Given the description of an element on the screen output the (x, y) to click on. 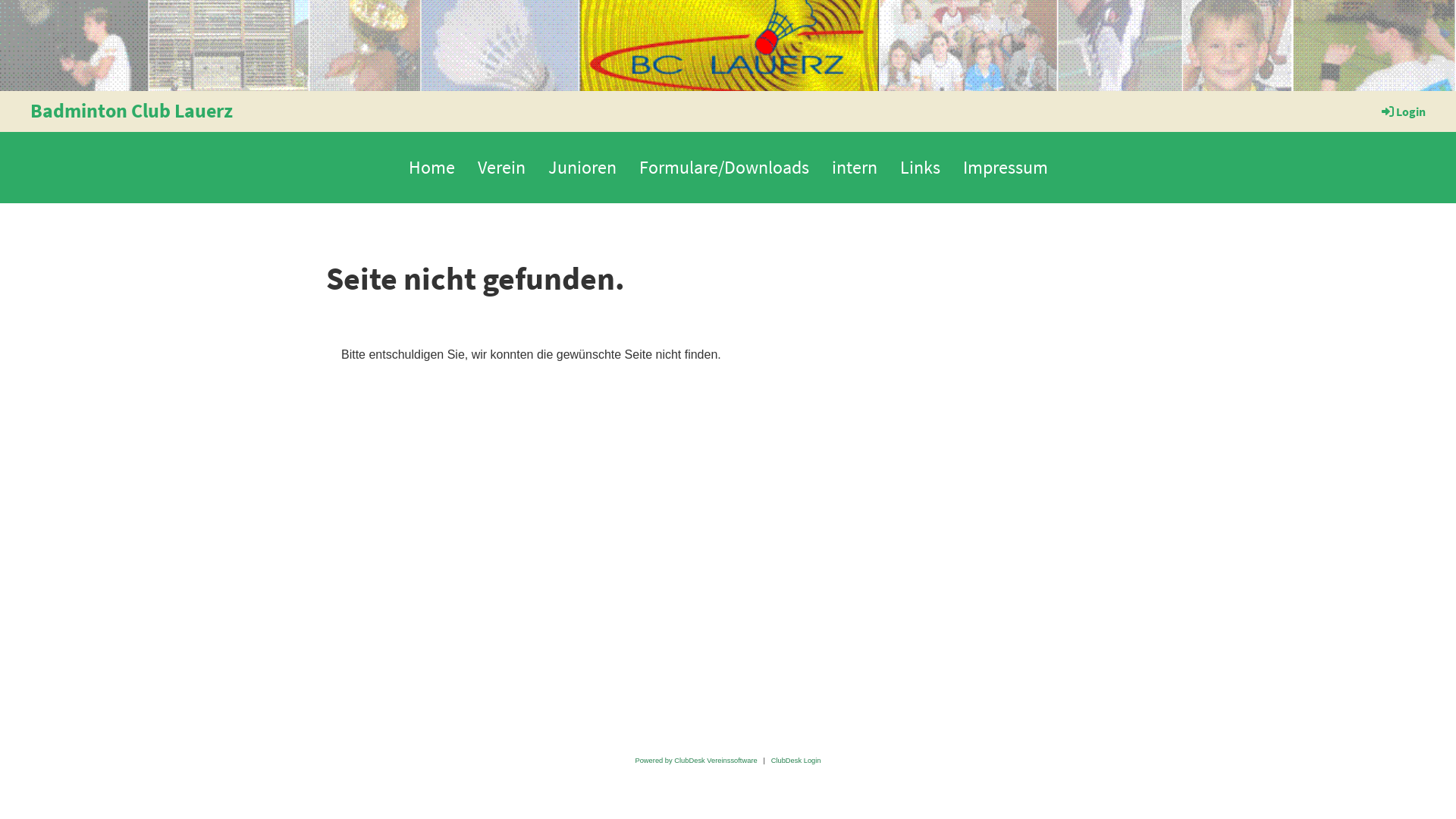
Impressum Element type: text (1004, 167)
Home Element type: text (431, 167)
ClubDesk Login Element type: text (796, 760)
Verein Element type: text (500, 167)
Login Element type: text (1402, 110)
Formulare/Downloads Element type: text (723, 167)
Powered by ClubDesk Vereinssoftware Element type: text (695, 760)
intern Element type: text (854, 167)
Links Element type: text (919, 167)
Badminton Club Lauerz Element type: text (131, 110)
Junioren Element type: text (581, 167)
